Given the description of an element on the screen output the (x, y) to click on. 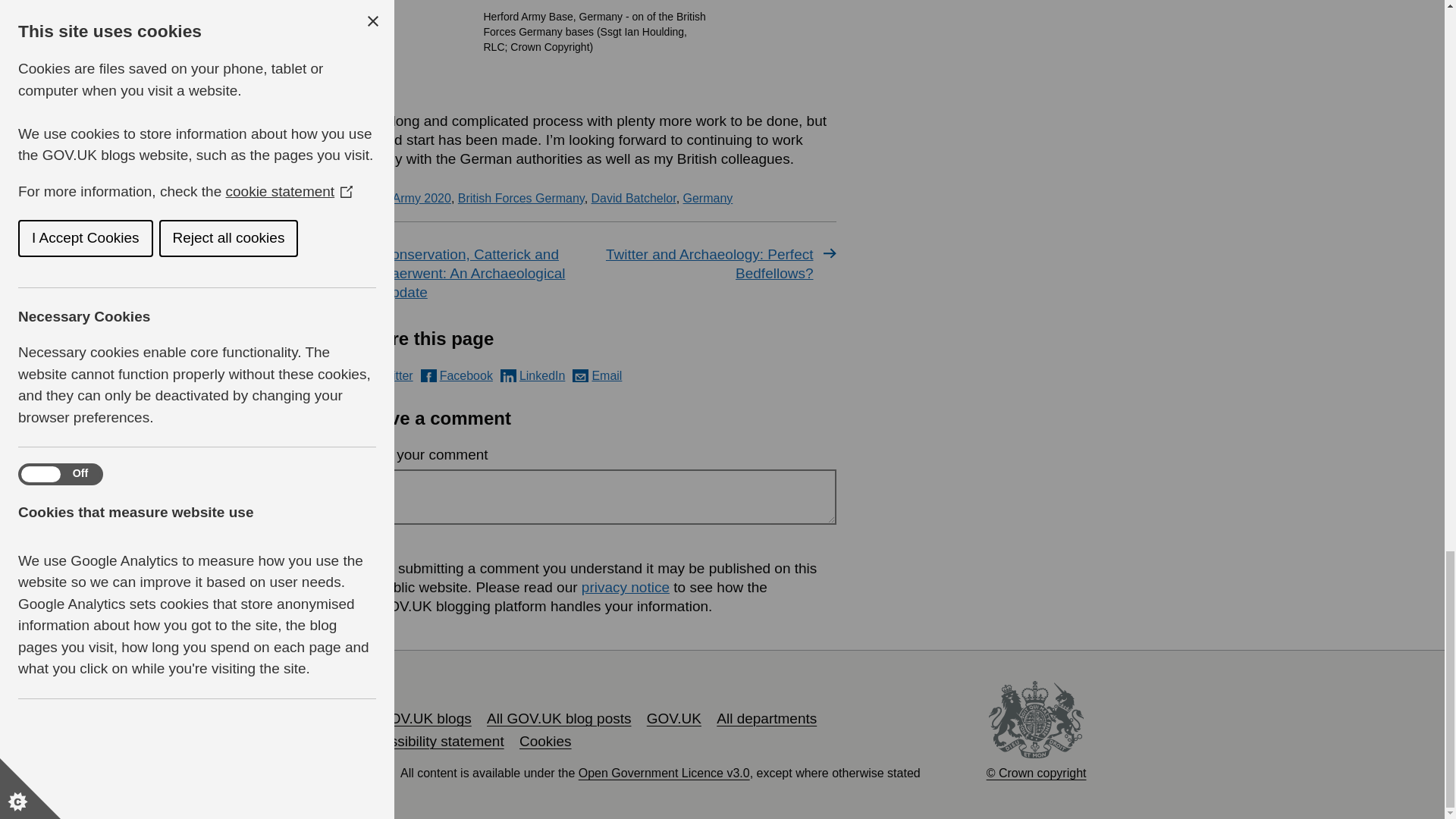
Army 2020 (422, 197)
LinkedIn (533, 375)
British Forces Germany (521, 197)
Twitter (385, 375)
Twitter and Archaeology: Perfect Bedfellows? (718, 263)
Germany (707, 197)
David Batchelor (634, 197)
privacy notice (624, 587)
Facebook (456, 375)
Email (596, 375)
